Given the description of an element on the screen output the (x, y) to click on. 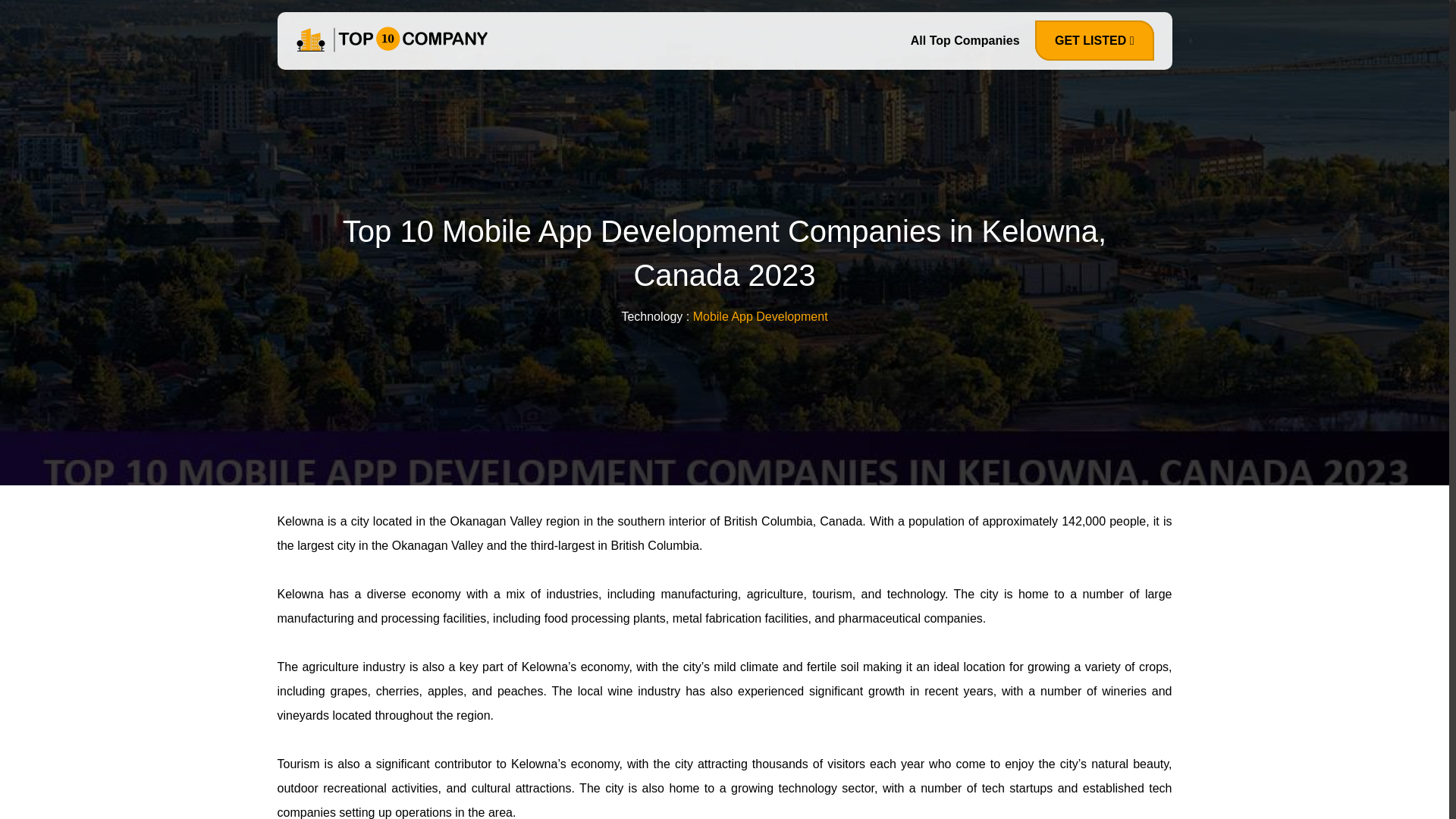
Mobile App Development (760, 316)
GET LISTED (1094, 40)
All Top Companies (965, 44)
